Given the description of an element on the screen output the (x, y) to click on. 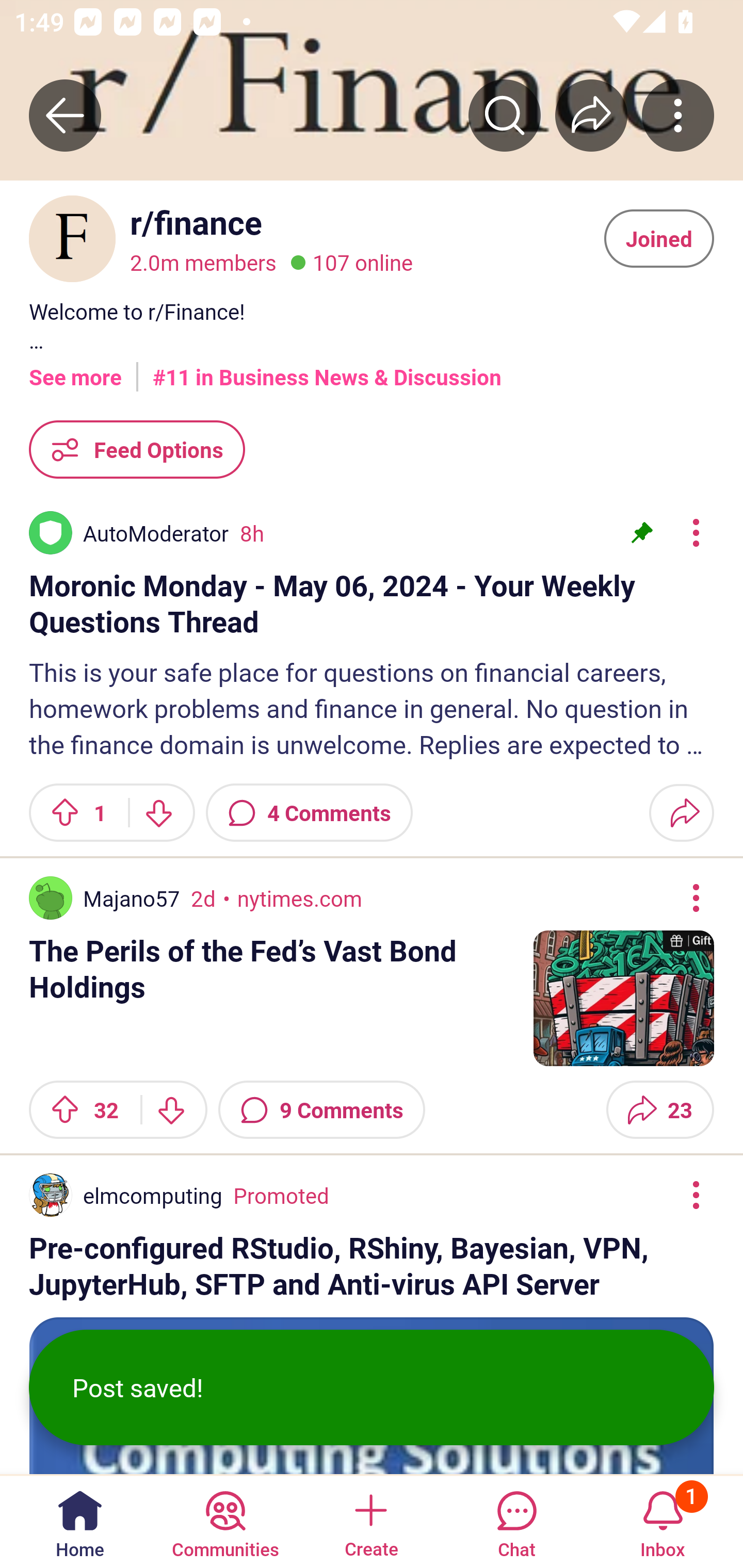
Back (64, 115)
Search r/﻿finance (504, 115)
Share r/﻿finance (591, 115)
More community actions (677, 115)
See more (74, 369)
#11 in Business News & Discussion (327, 369)
Feed Options (136, 449)
Home (80, 1520)
Communities (225, 1520)
Create a post Create (370, 1520)
Chat (516, 1520)
Inbox, has 1 notification 1 Inbox (662, 1520)
